Given the description of an element on the screen output the (x, y) to click on. 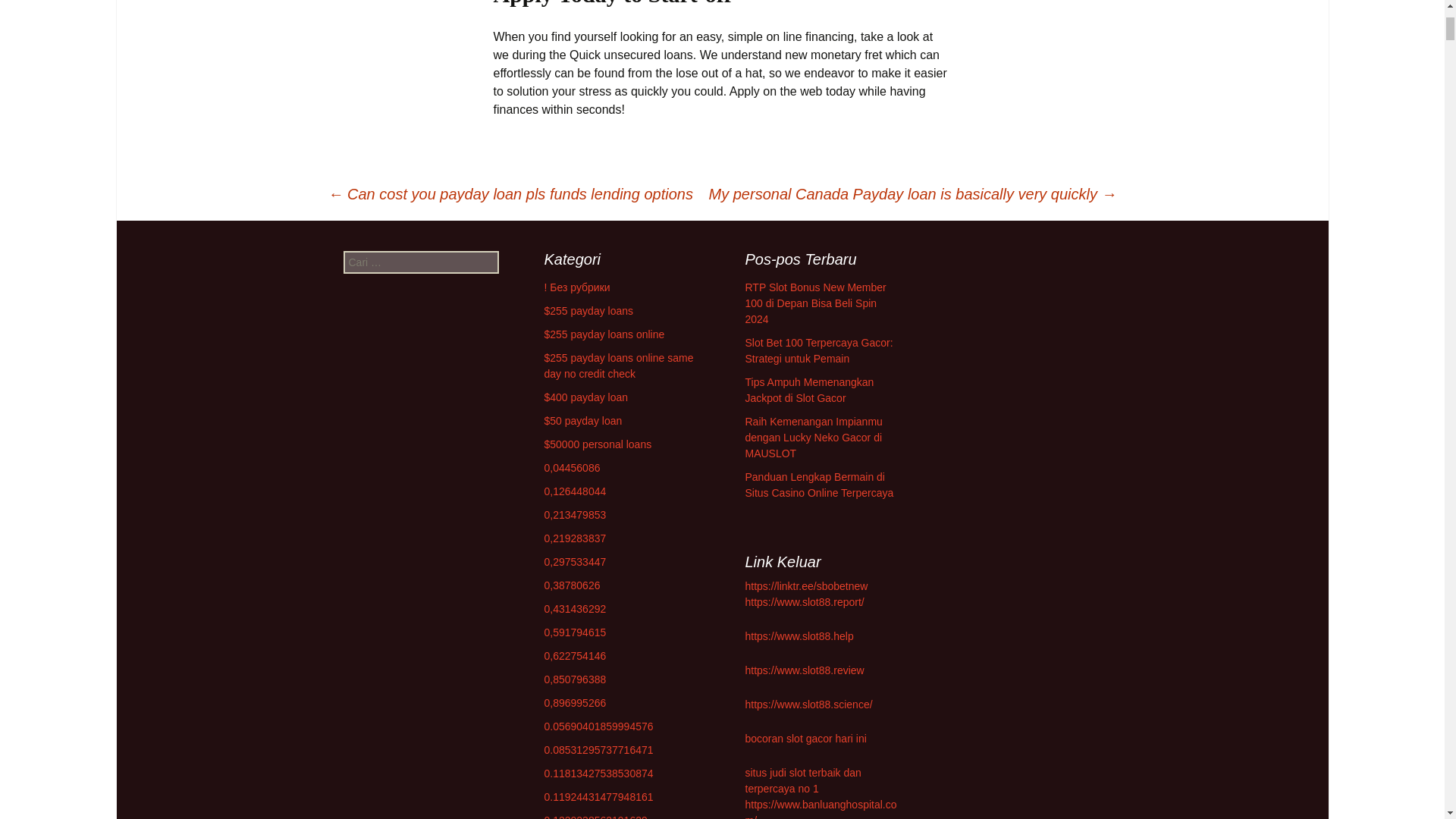
0,297533447 (575, 562)
0.08531295737716471 (598, 749)
0,126448044 (575, 491)
0,04456086 (571, 467)
0,213479853 (575, 514)
0,591794615 (575, 632)
0,38780626 (571, 585)
0,431436292 (575, 608)
0.1220238562191629 (595, 816)
0.11813427538530874 (598, 773)
